Given the description of an element on the screen output the (x, y) to click on. 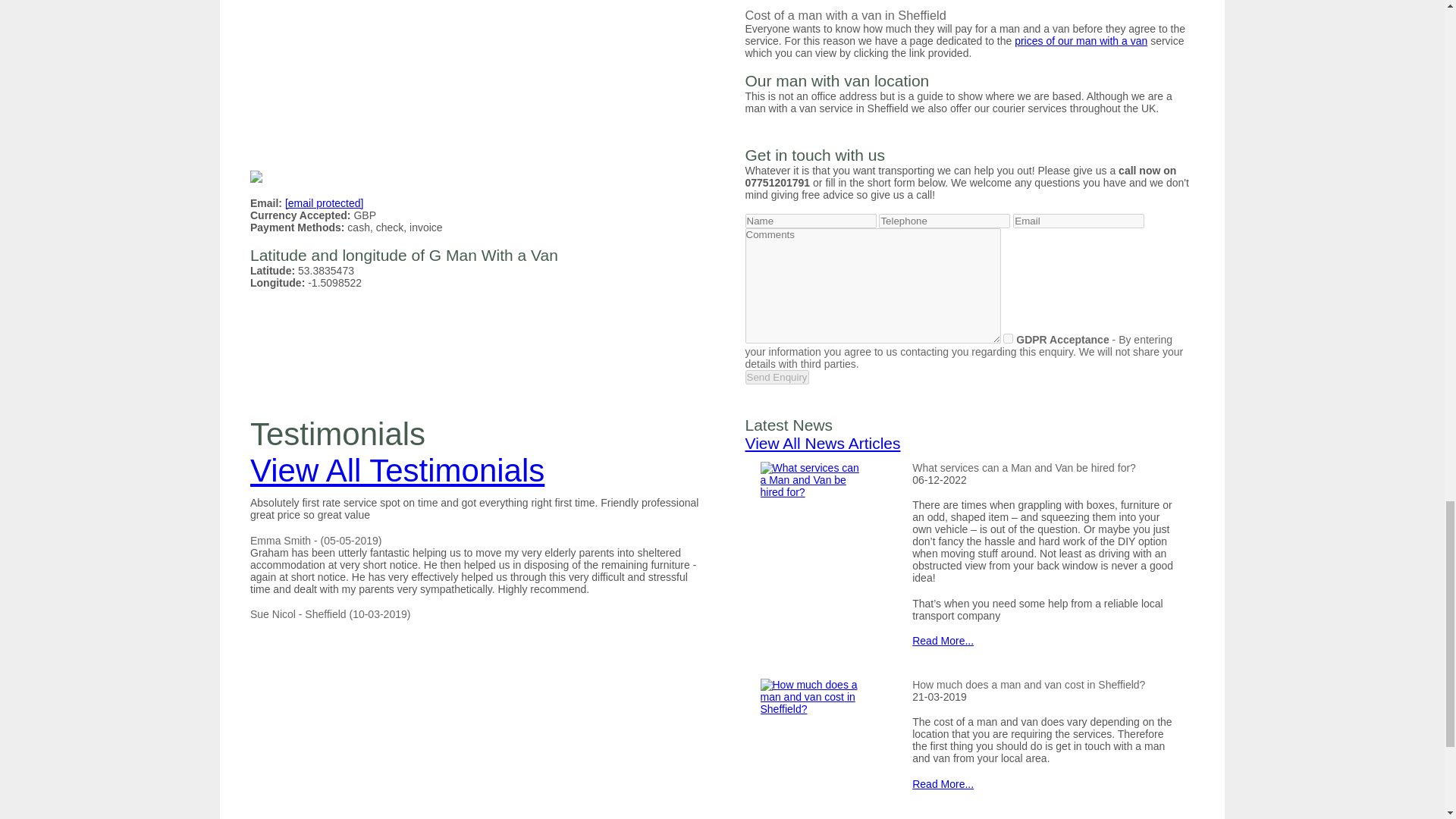
Send Enquiry (776, 377)
yes (1008, 338)
